Given the description of an element on the screen output the (x, y) to click on. 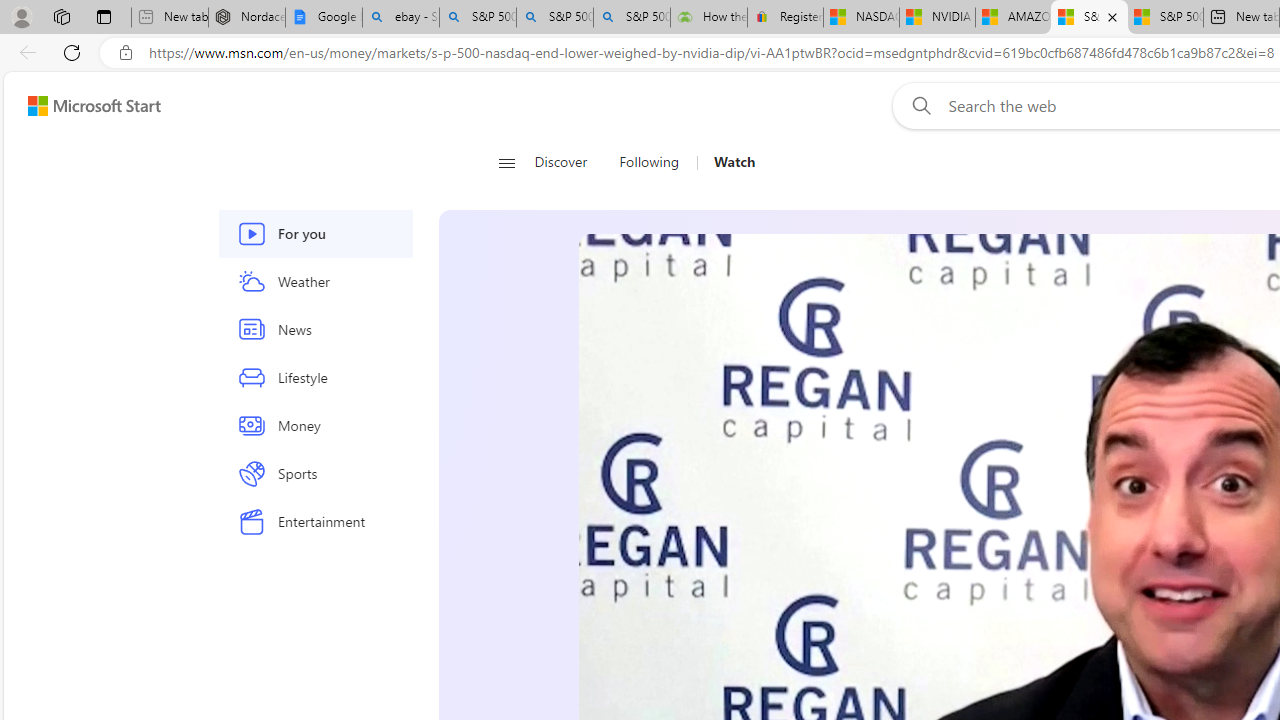
Web search (917, 105)
S&P 500 - Search (554, 17)
Register: Create a personal eBay account (785, 17)
